Given the description of an element on the screen output the (x, y) to click on. 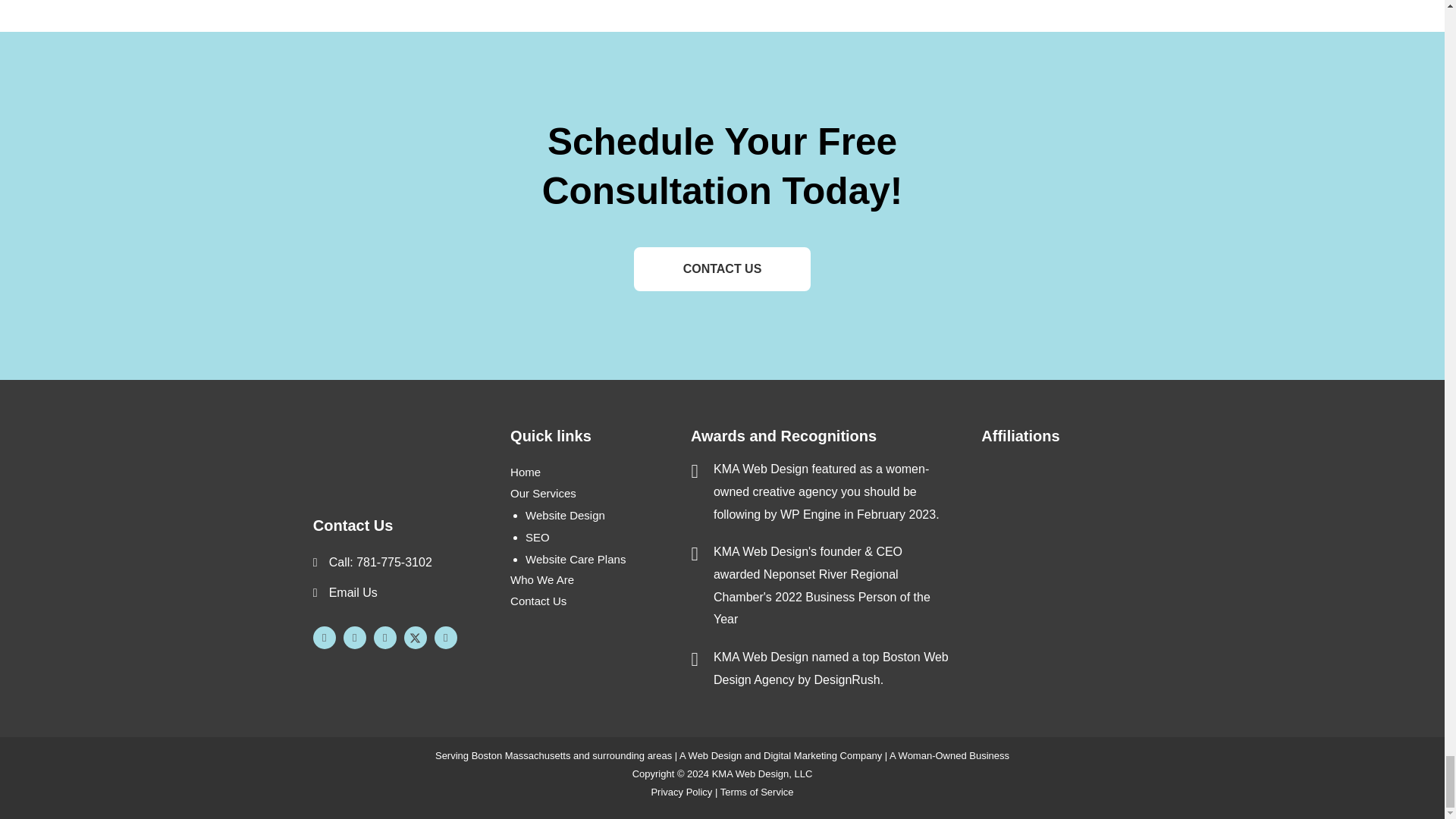
CONTACT US (721, 268)
